Given the description of an element on the screen output the (x, y) to click on. 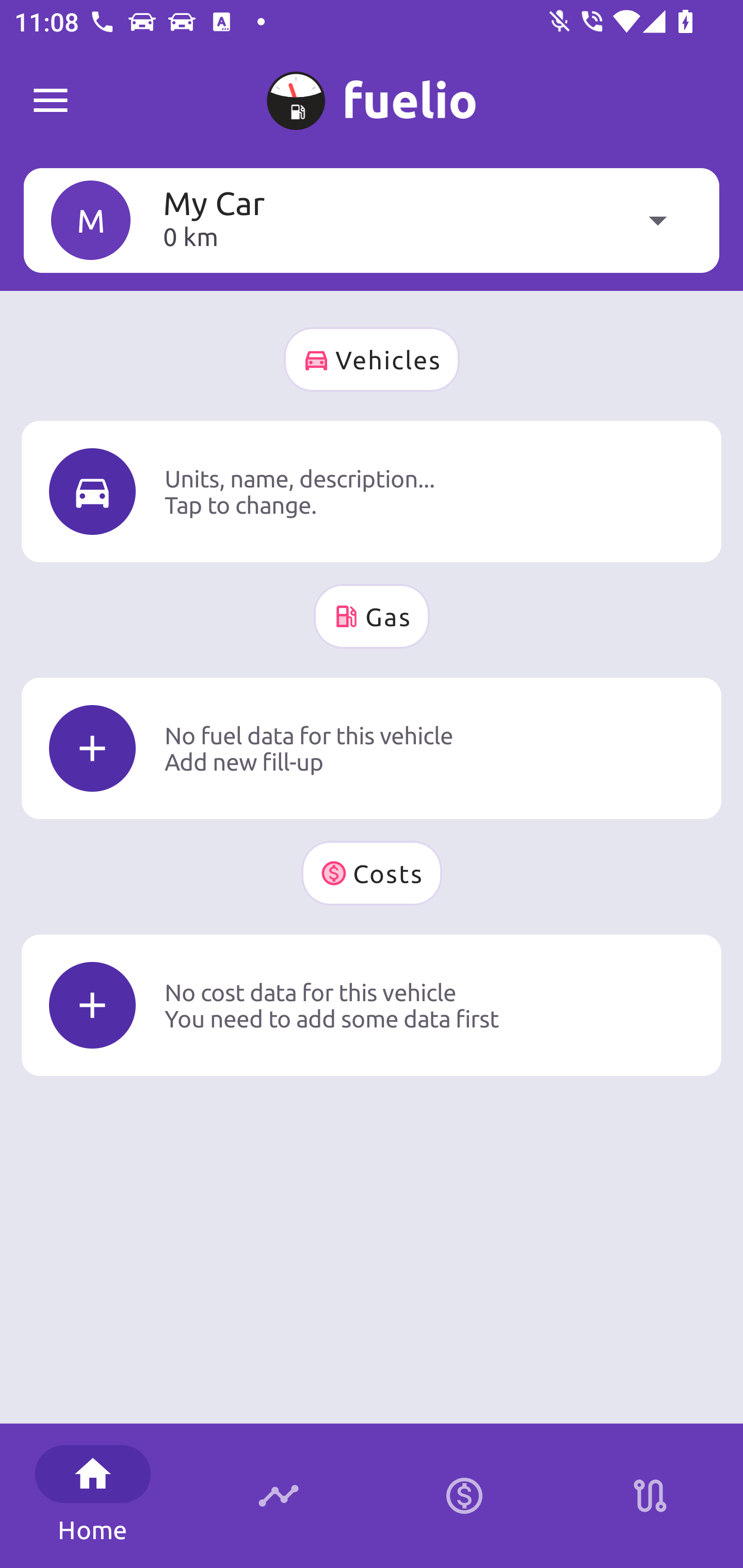
Fuelio (50, 101)
M My Car 0 km (371, 219)
Vehicles (371, 359)
Icon Units, name, description...
Tap to change. (371, 491)
Icon (92, 491)
Gas (371, 616)
Icon No fuel data for this vehicle
Add new fill-up (371, 747)
Icon (92, 748)
Costs (371, 873)
Icon (92, 1004)
Timeline (278, 1495)
Calculator (464, 1495)
Stations on route (650, 1495)
